Given the description of an element on the screen output the (x, y) to click on. 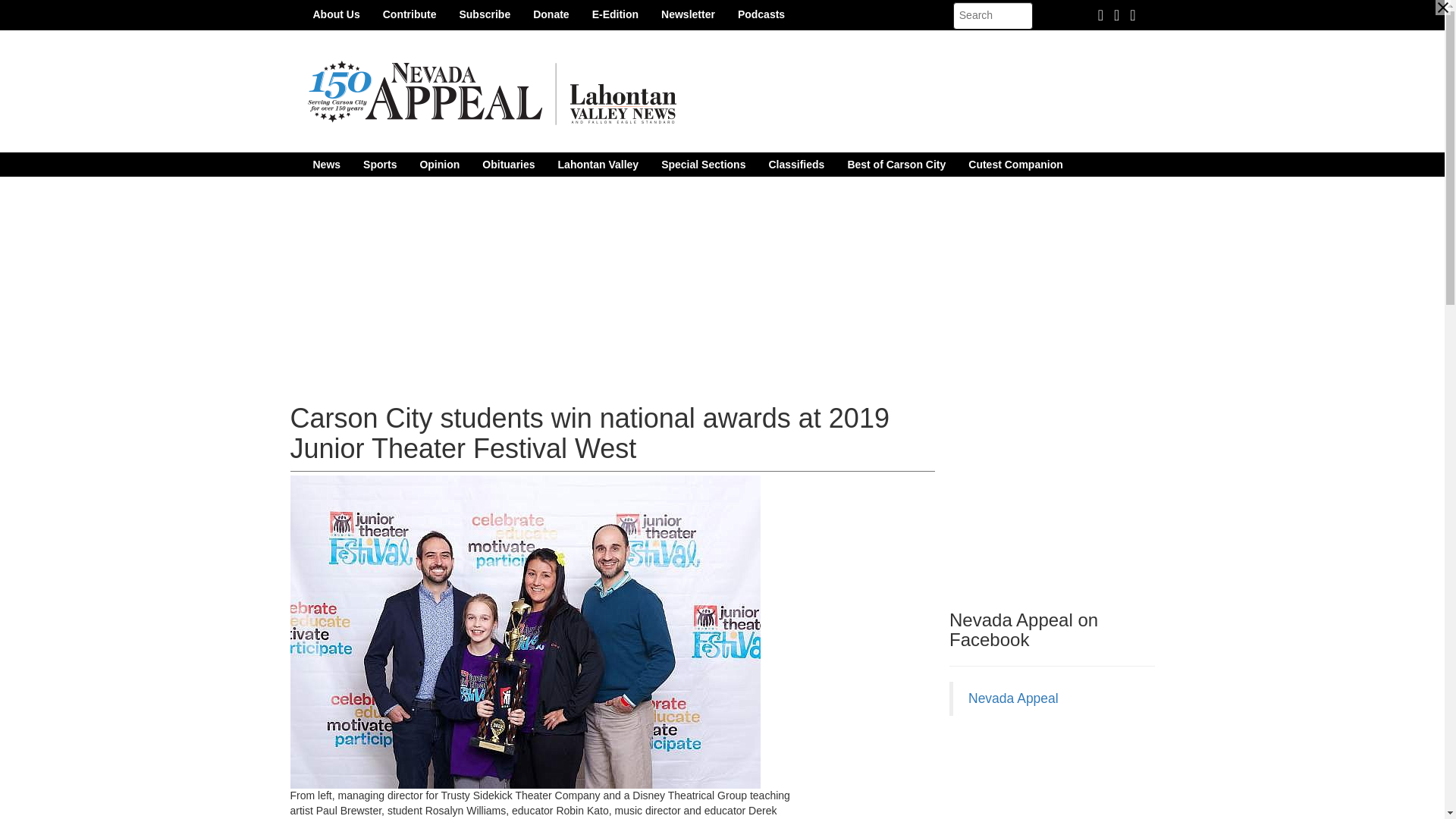
Obituaries (508, 164)
Podcasts (761, 14)
Opinion (438, 164)
Contribute (409, 14)
Classifieds (796, 164)
Sports (379, 164)
E-Edition (614, 14)
Best of Carson City (895, 164)
Lahontan Valley (598, 164)
Special Sections (703, 164)
